Given the description of an element on the screen output the (x, y) to click on. 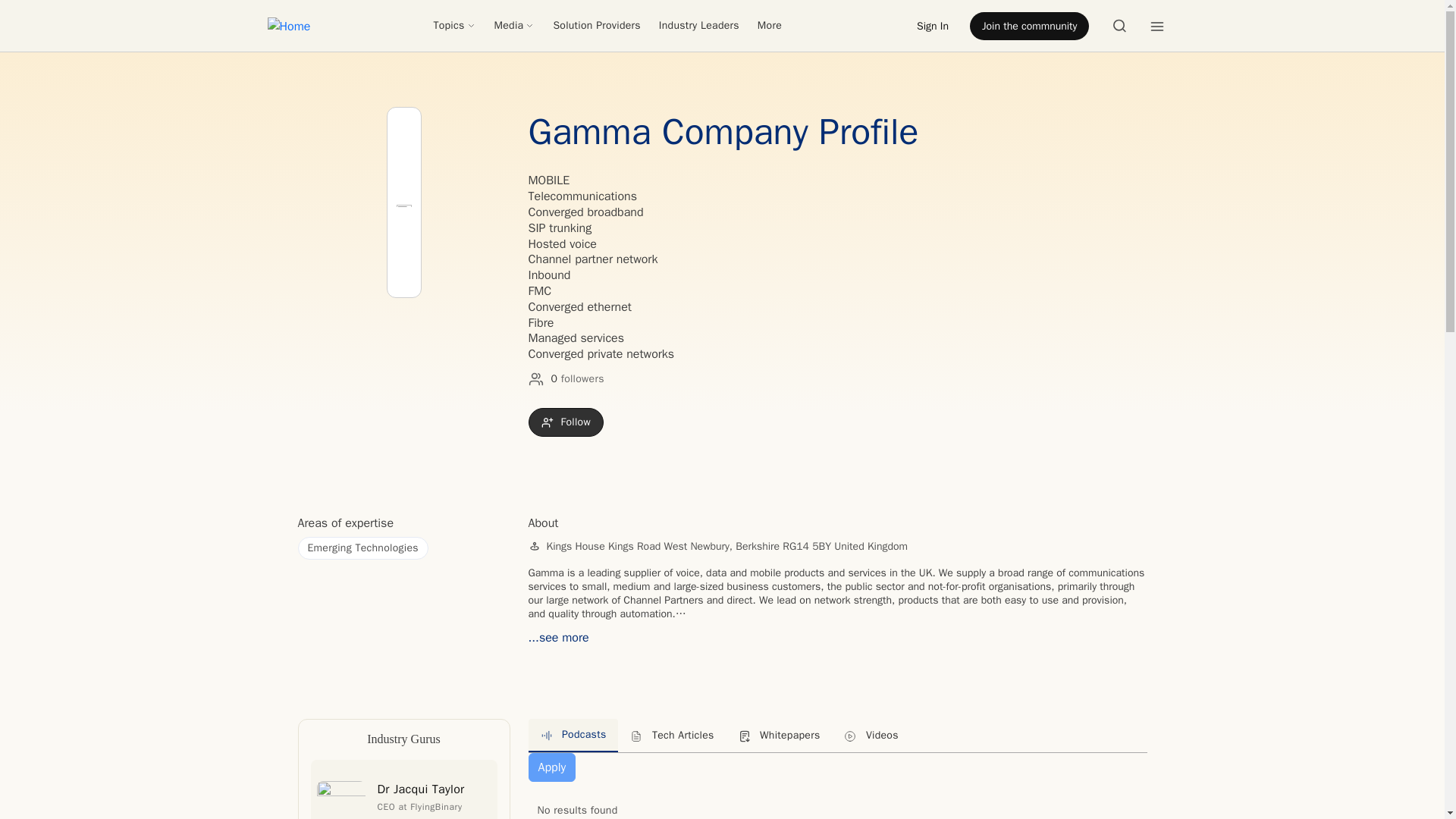
Skip to main content (60, 11)
Apply (551, 767)
Home (288, 25)
